Given the description of an element on the screen output the (x, y) to click on. 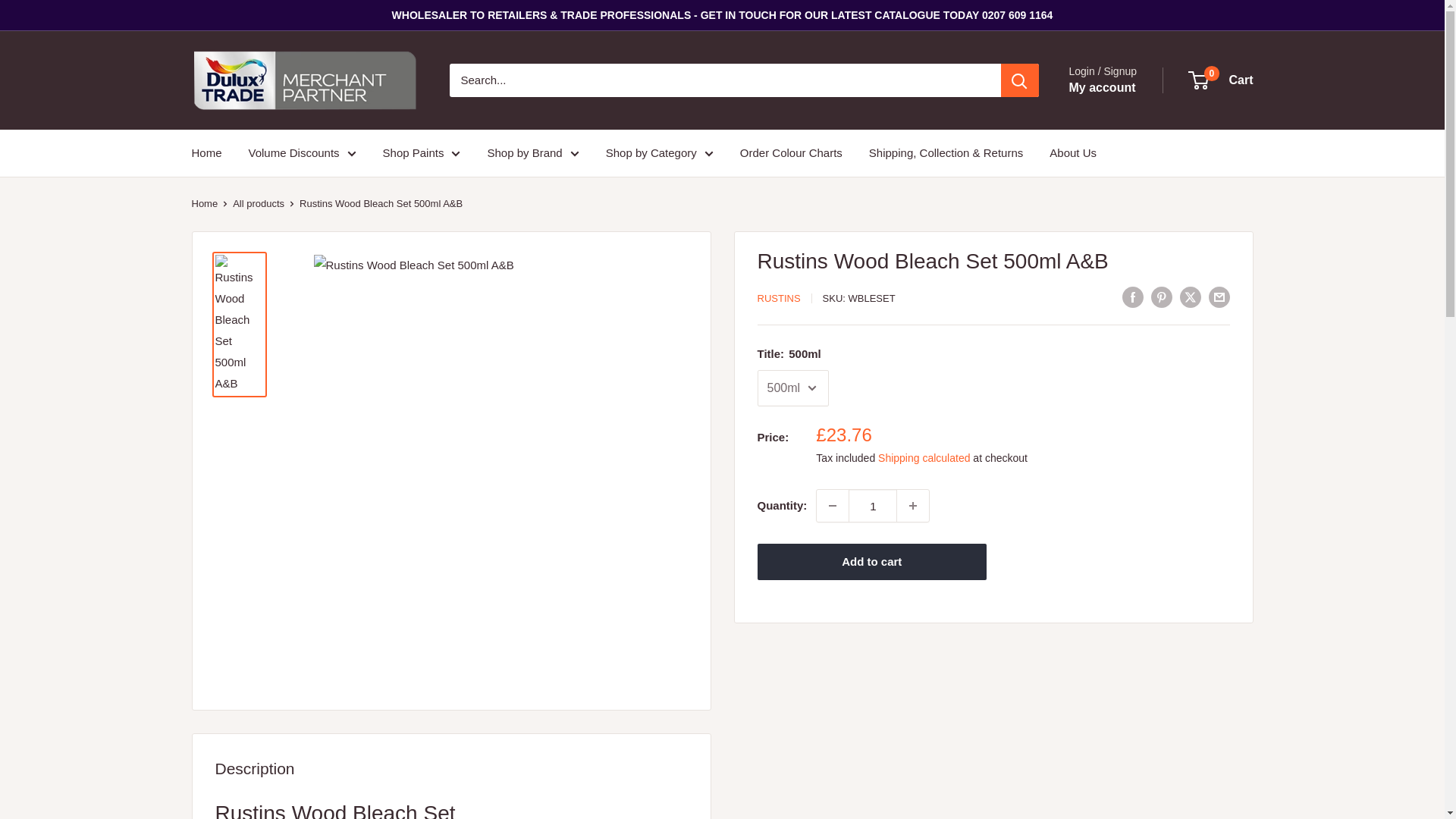
1 (872, 505)
Decrease quantity by 1 (832, 505)
Increase quantity by 1 (912, 505)
